Given the description of an element on the screen output the (x, y) to click on. 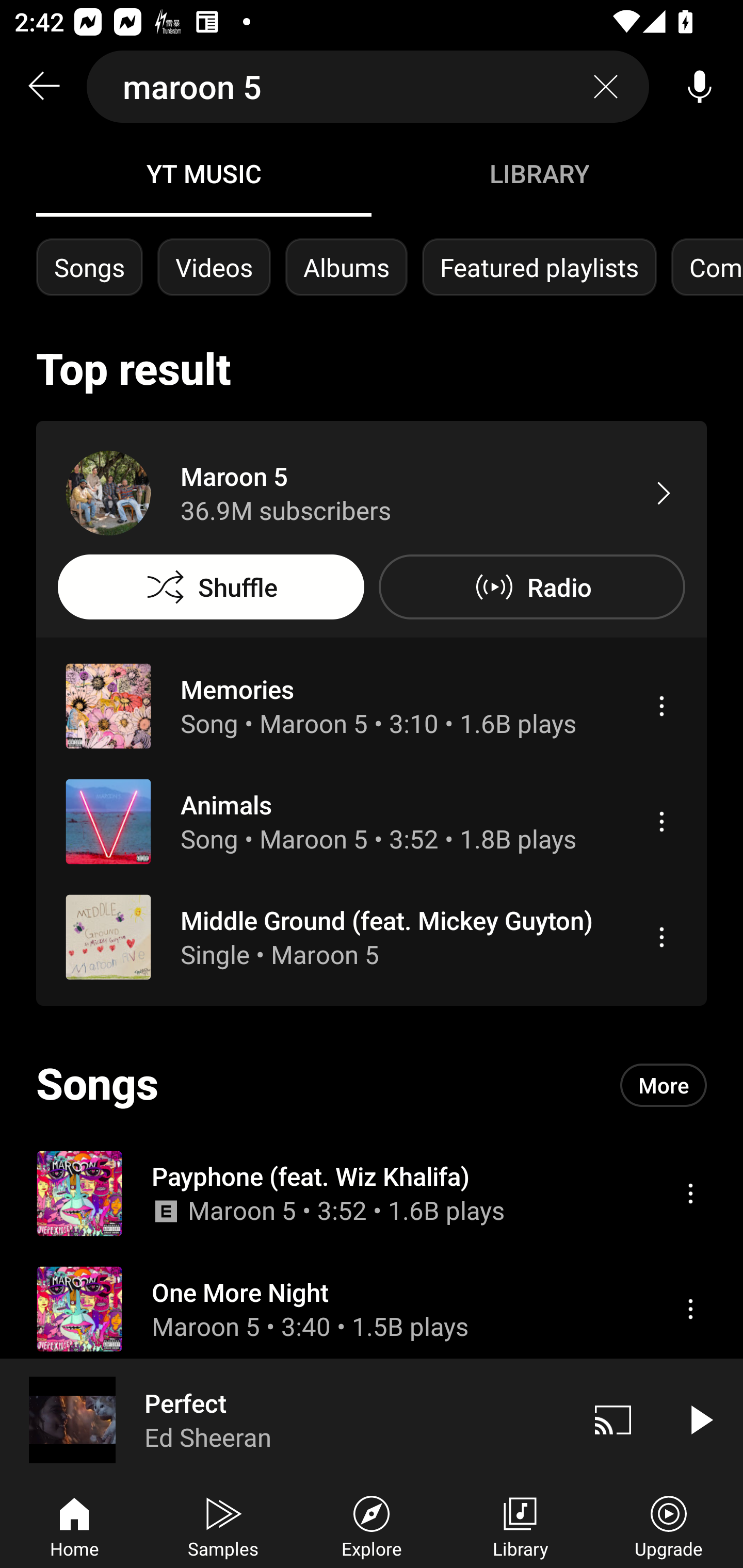
Search back (43, 86)
maroon 5 (367, 86)
Clear search (605, 86)
Voice search (699, 86)
Library LIBRARY (538, 173)
Shuffle (210, 587)
Radio (531, 587)
Menu (661, 705)
Menu (661, 821)
Menu (661, 937)
Songs More More (371, 1084)
More (663, 1085)
Menu (690, 1193)
Menu (690, 1309)
Perfect Ed Sheeran (284, 1419)
Cast. Disconnected (612, 1419)
Play video (699, 1419)
Home (74, 1524)
Samples (222, 1524)
Explore (371, 1524)
Library (519, 1524)
Upgrade (668, 1524)
